Given the description of an element on the screen output the (x, y) to click on. 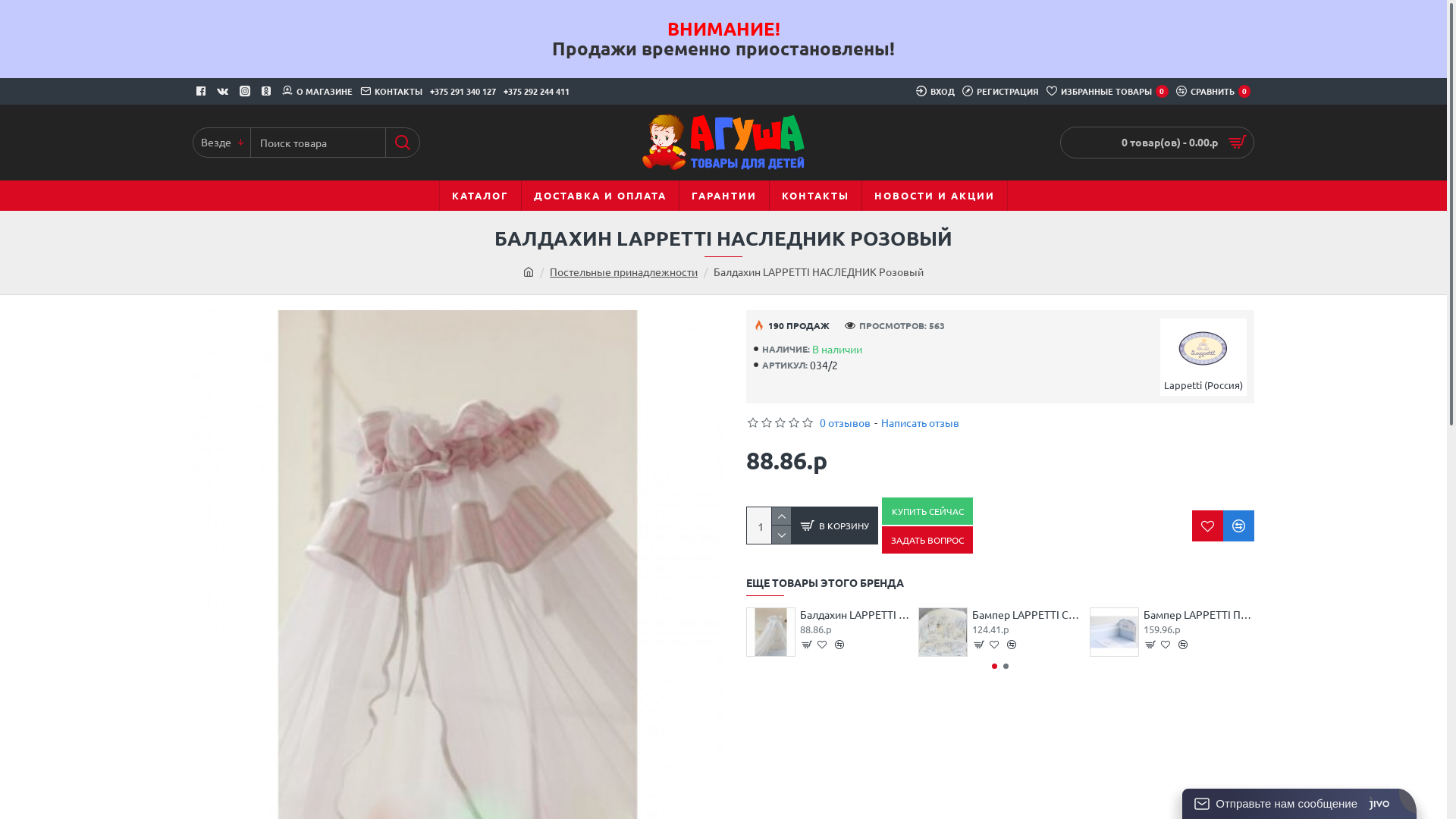
+375 292 244 411 Element type: text (536, 91)
+375 291 340 127 Element type: text (462, 91)
